Given the description of an element on the screen output the (x, y) to click on. 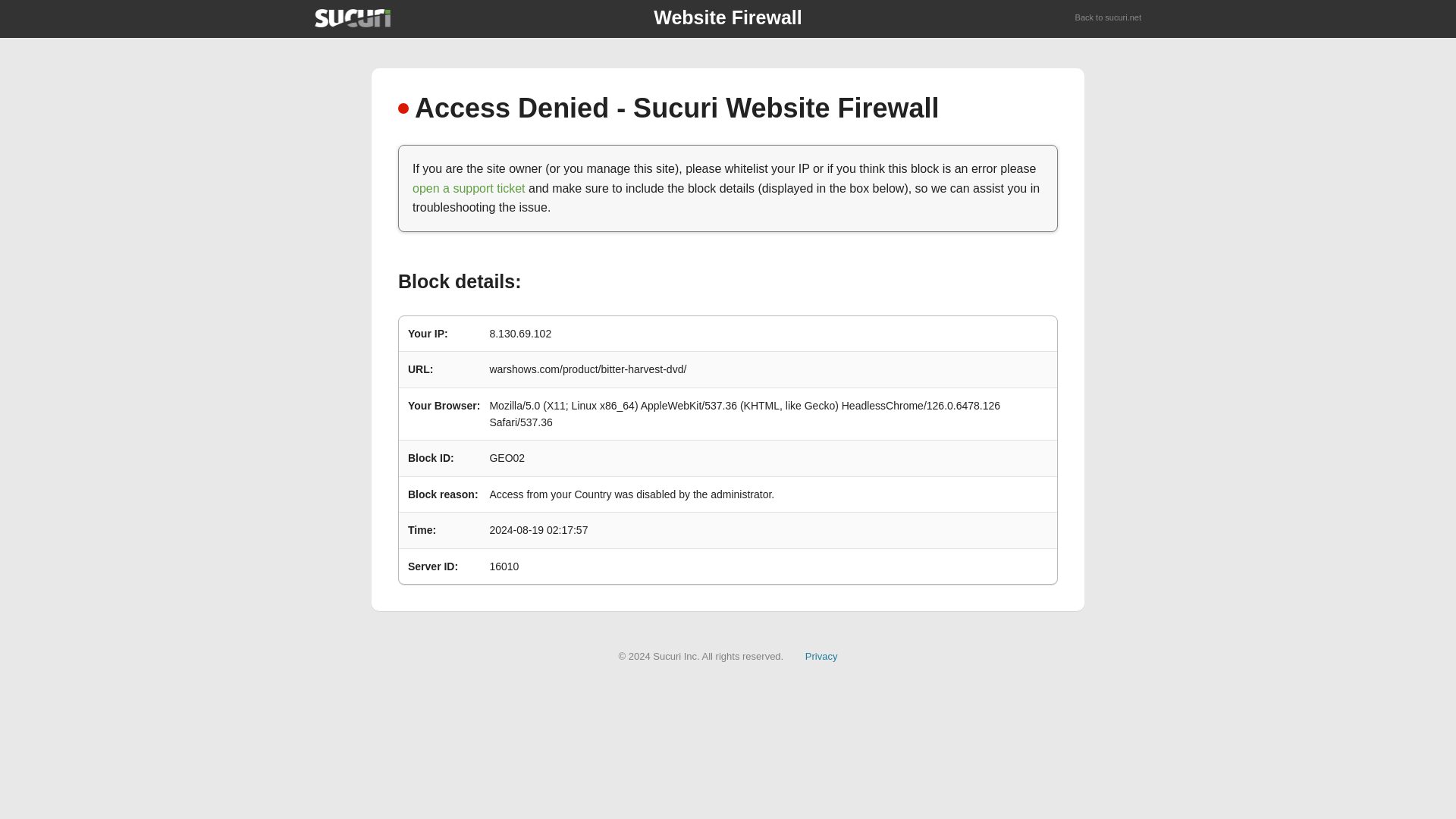
Back to sucuri.net (1108, 18)
open a support ticket (468, 187)
Privacy (821, 655)
